Given the description of an element on the screen output the (x, y) to click on. 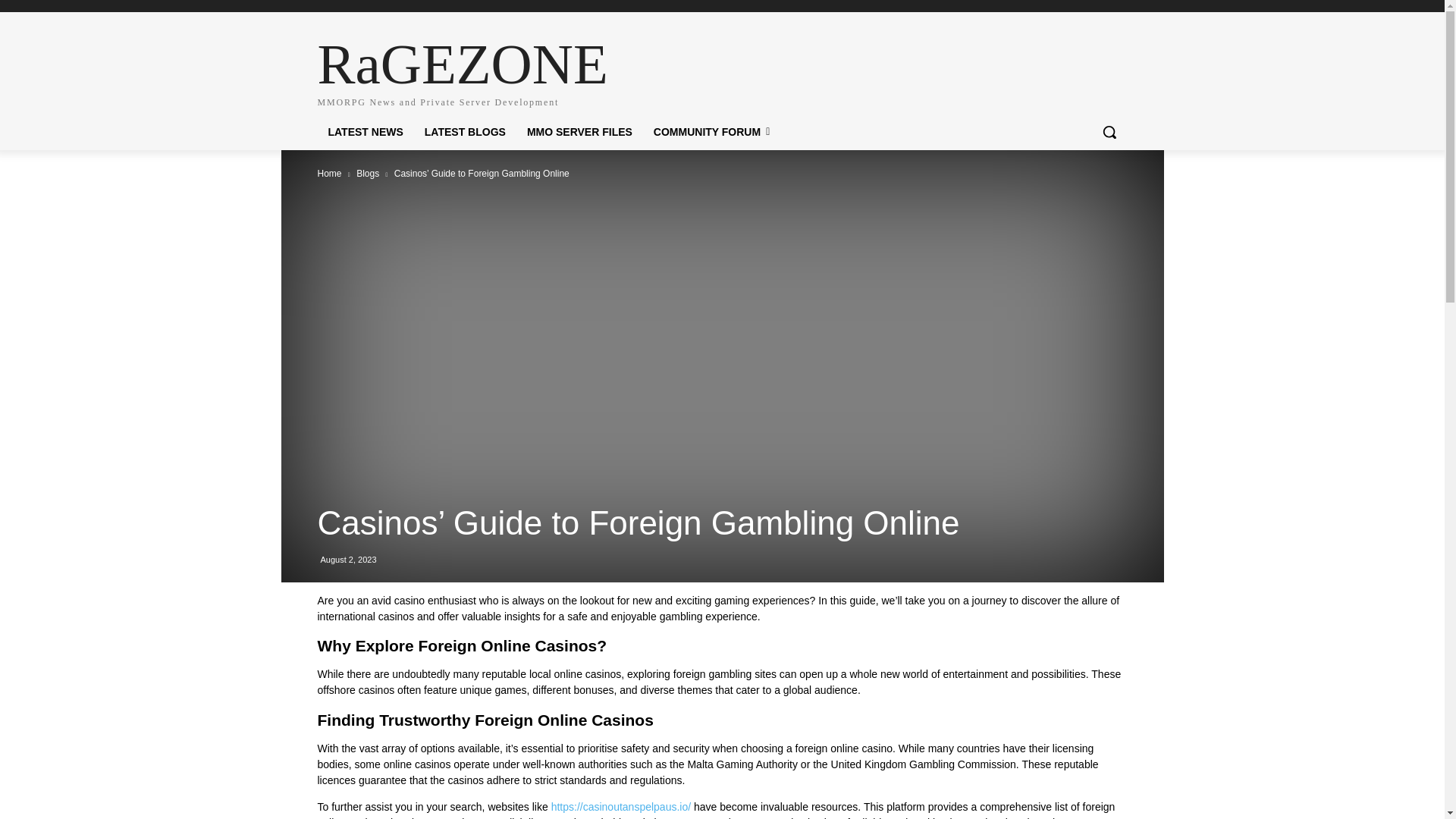
COMMUNITY FORUM (711, 131)
Blogs (367, 173)
LATEST BLOGS (464, 131)
View all posts in Blogs (367, 173)
MMO SERVER FILES (438, 70)
Home (579, 131)
LATEST NEWS (328, 173)
